Given the description of an element on the screen output the (x, y) to click on. 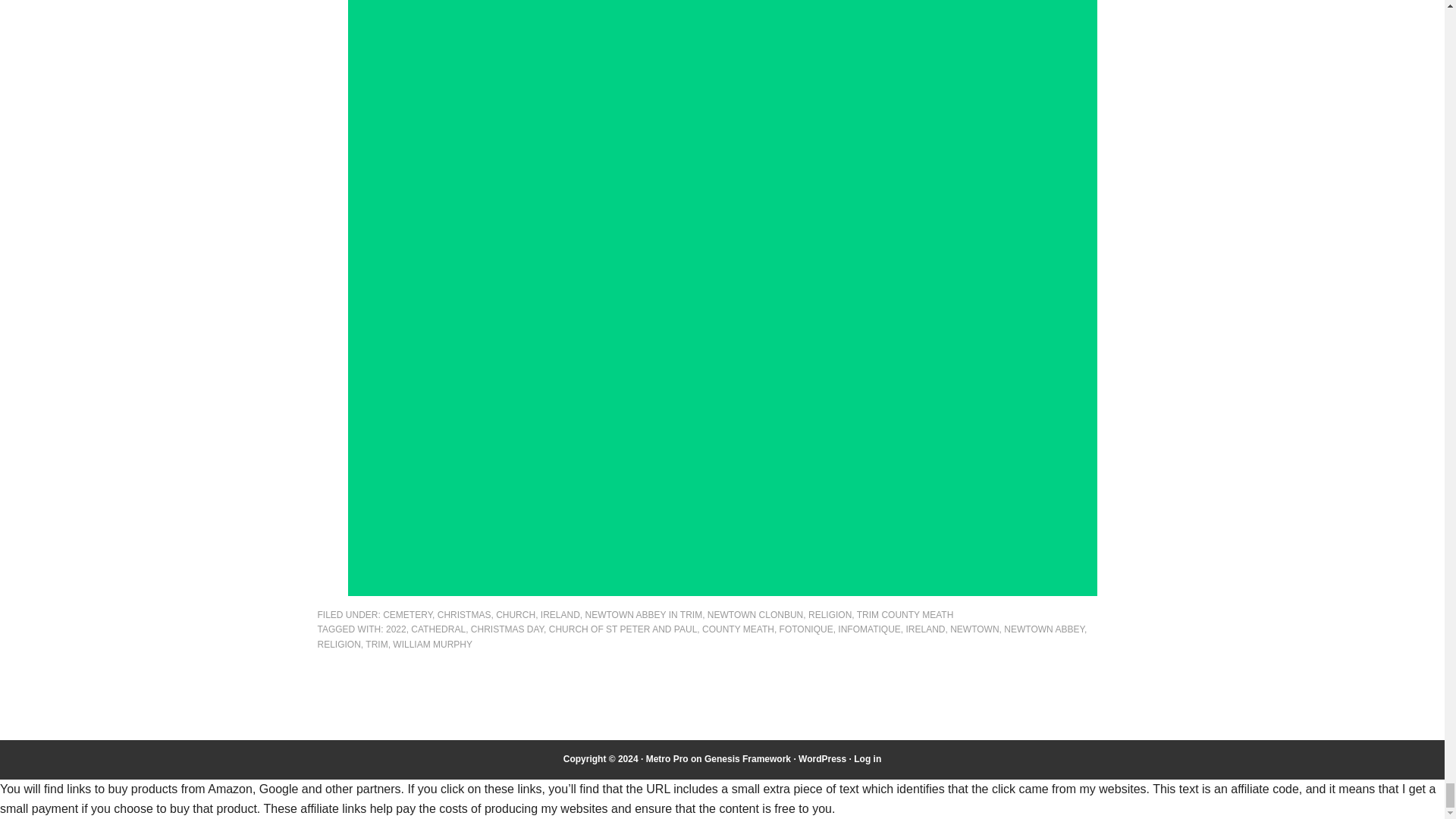
CATHEDRAL (437, 629)
RELIGION (829, 614)
COUNTY MEATH (737, 629)
CHURCH OF ST PETER AND PAUL (622, 629)
Log in (866, 758)
NEWTOWN (974, 629)
NEWTOWN ABBEY IN TRIM (643, 614)
INFOMATIQUE (868, 629)
Metro Pro (667, 758)
FOTONIQUE (805, 629)
